Given the description of an element on the screen output the (x, y) to click on. 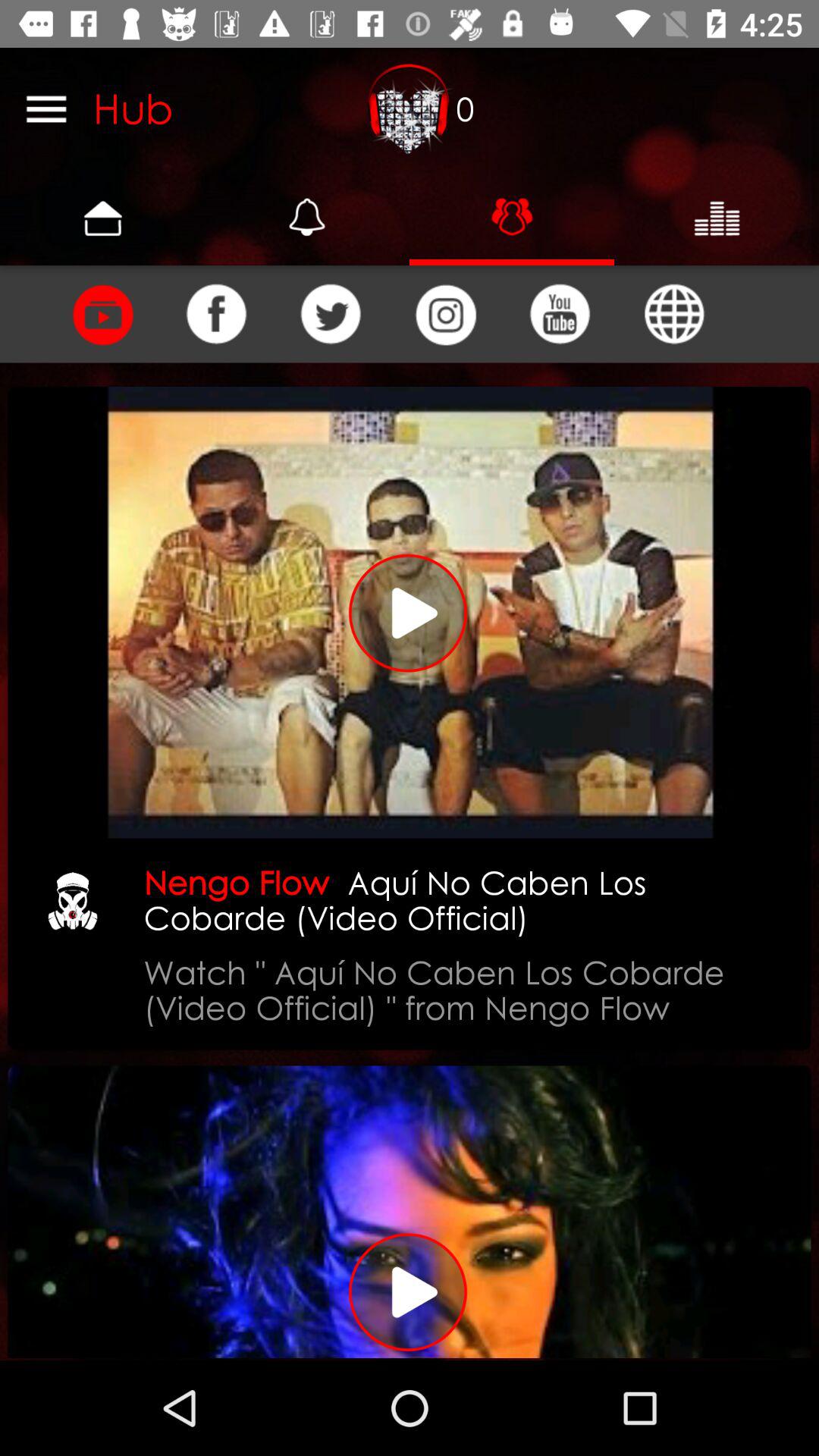
select icon next to hub icon (409, 108)
